Given the description of an element on the screen output the (x, y) to click on. 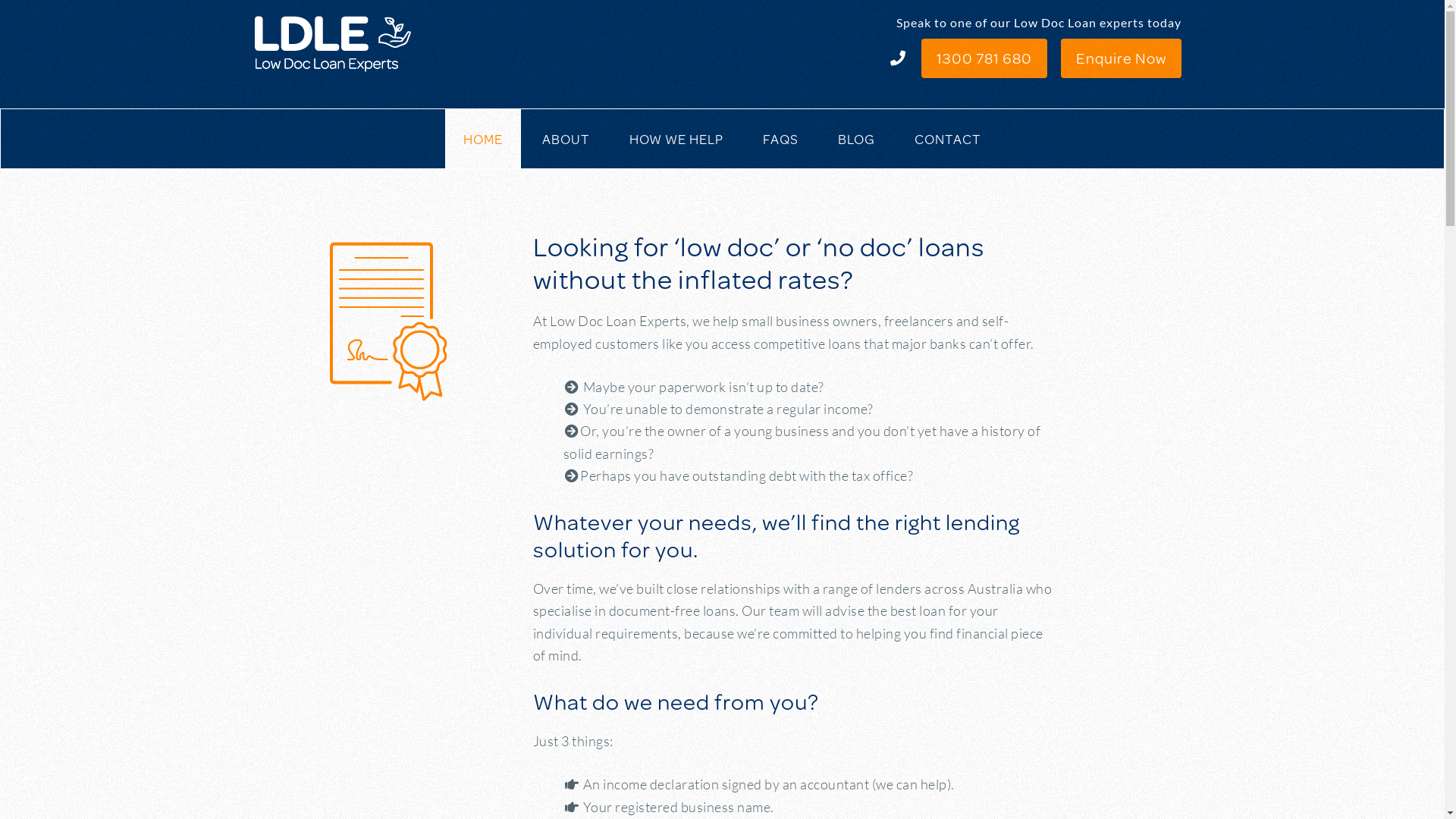
FAQS Element type: text (780, 138)
ldle-icon-how-we-help Element type: hover (380, 312)
HOW WE HELP Element type: text (676, 138)
Enquire Now Element type: text (1120, 58)
ABOUT Element type: text (566, 138)
HOME Element type: text (482, 138)
1300 781 680 Element type: text (983, 58)
Send Element type: text (482, 486)
Low Doc Loan Experts Element type: text (354, 42)
CONTACT Element type: text (947, 138)
BLOG Element type: text (856, 138)
